Given the description of an element on the screen output the (x, y) to click on. 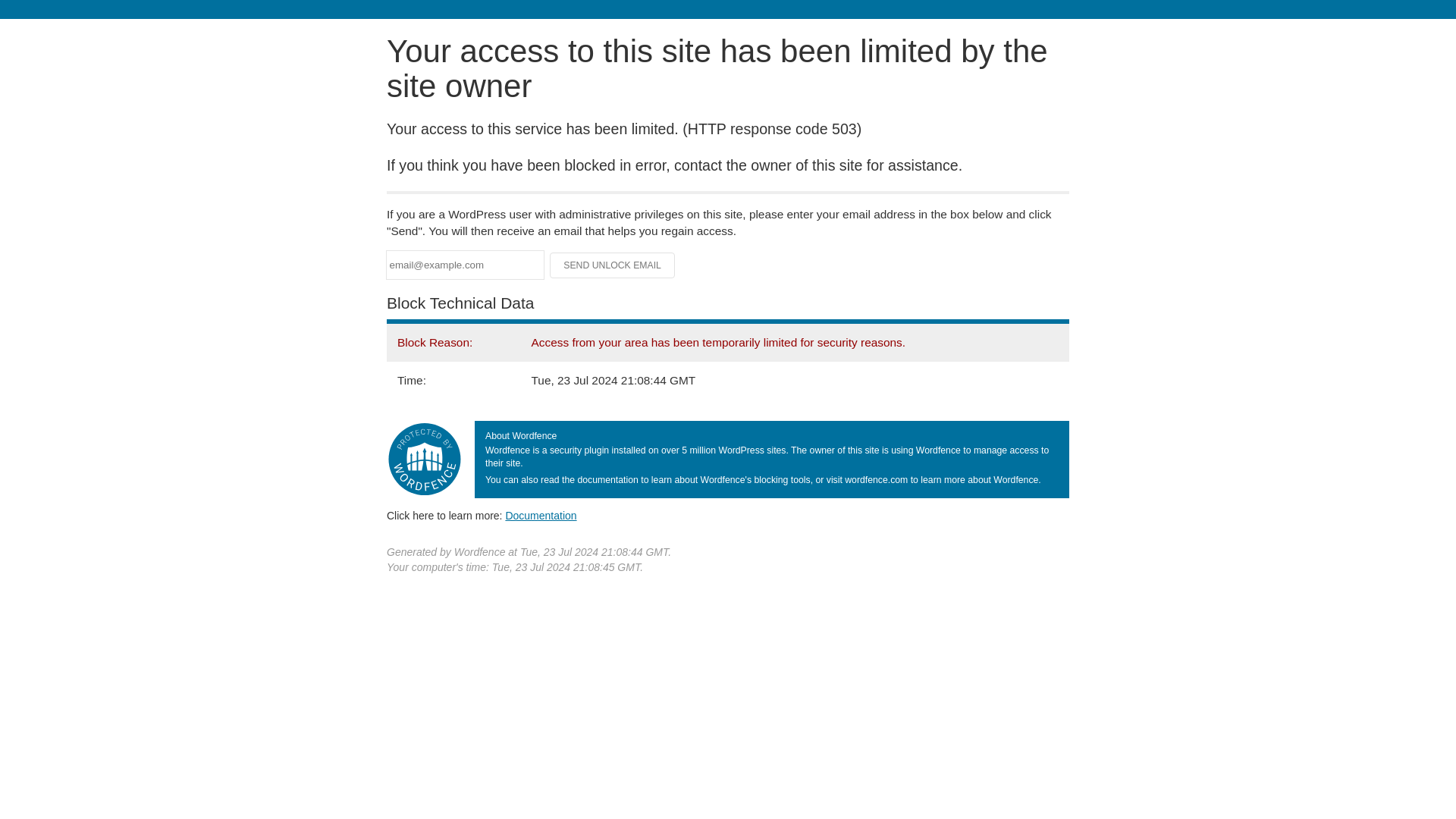
Documentation (540, 515)
Send Unlock Email (612, 265)
Send Unlock Email (612, 265)
